Given the description of an element on the screen output the (x, y) to click on. 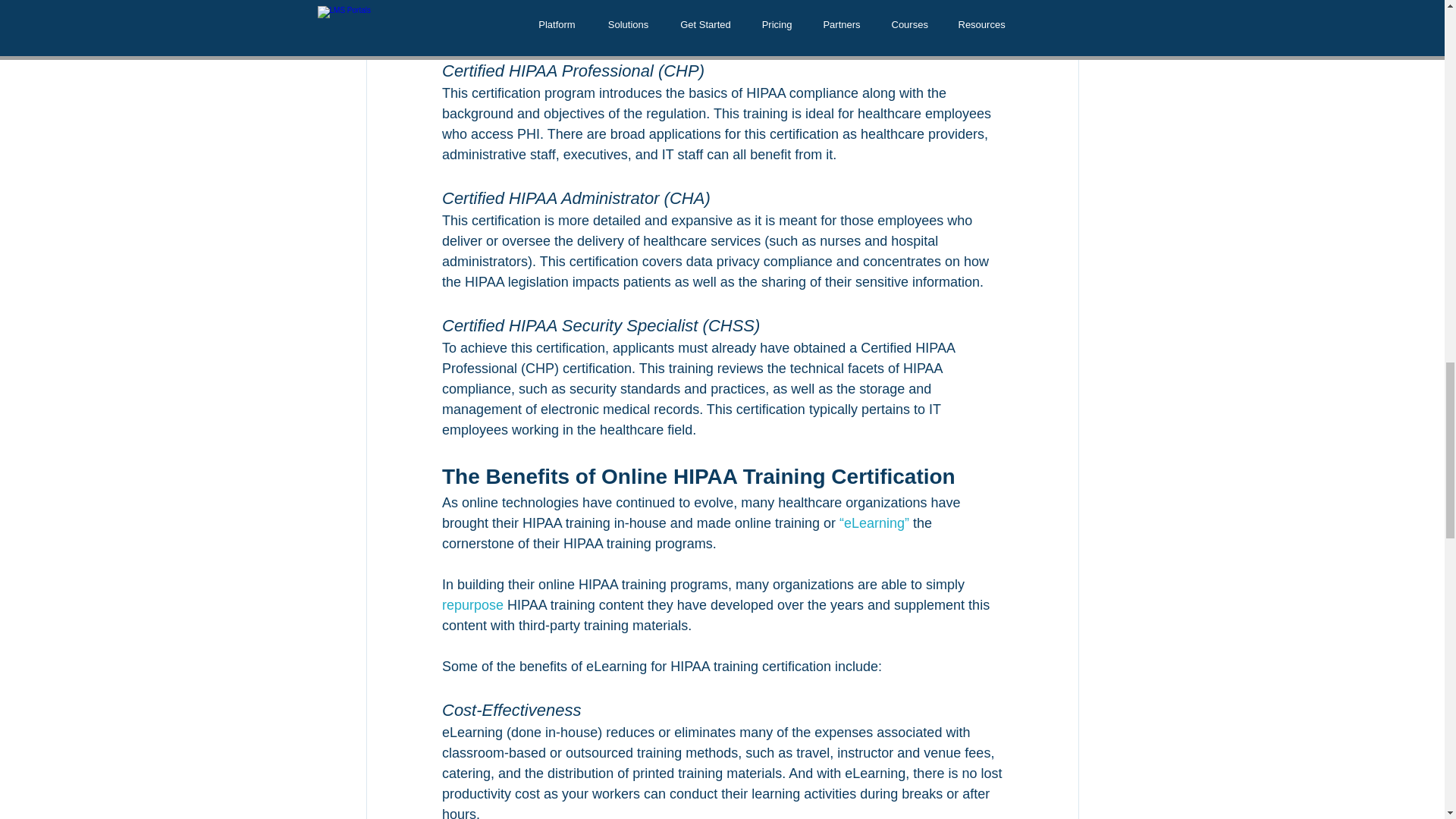
repurpose (471, 604)
